Given the description of an element on the screen output the (x, y) to click on. 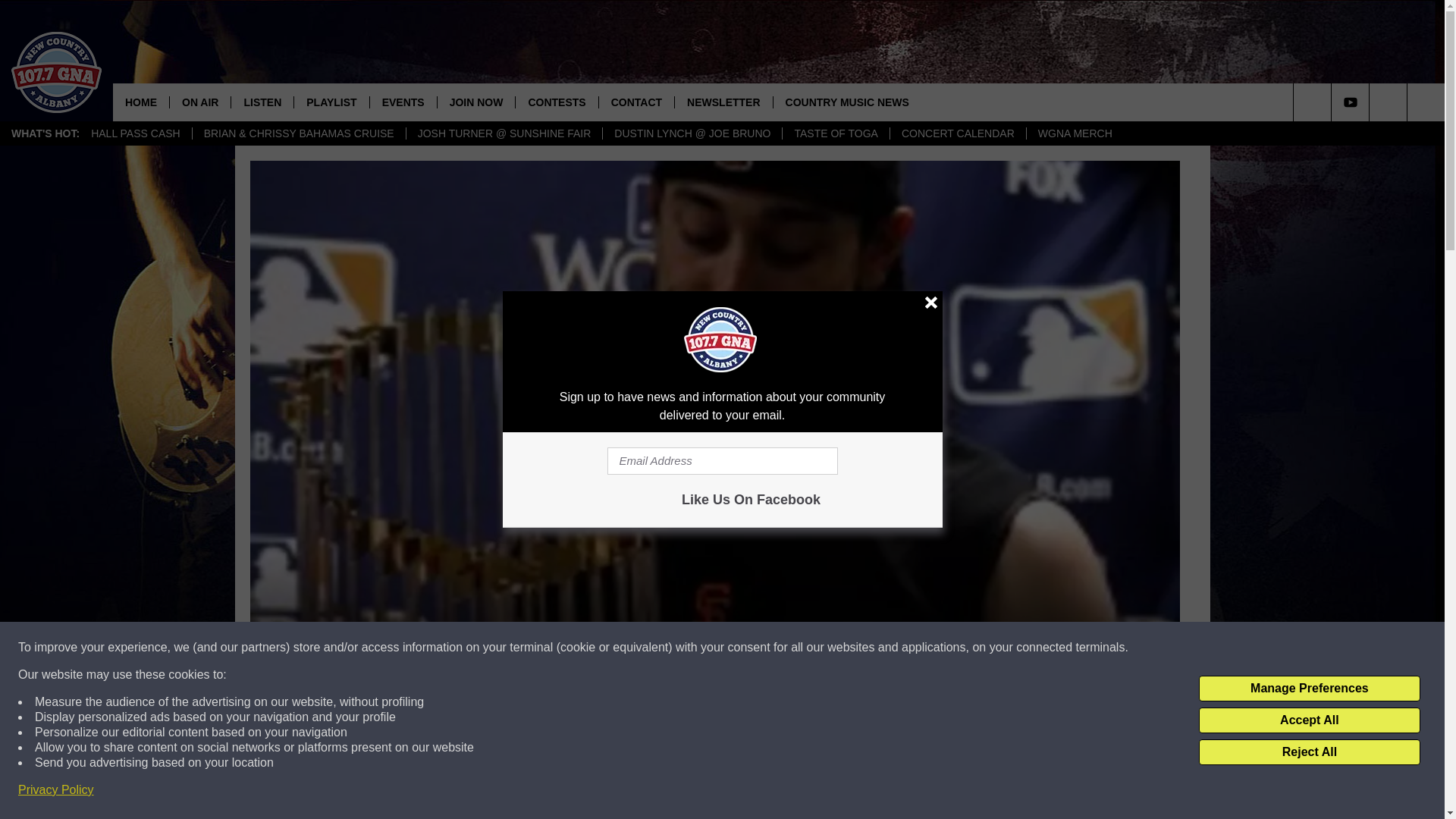
Reject All (1309, 751)
Share on Facebook (517, 791)
Privacy Policy (55, 789)
Accept All (1309, 720)
LISTEN (262, 102)
HOME (140, 102)
ON AIR (199, 102)
EVENTS (402, 102)
TASTE OF TOGA (834, 133)
WGNA MERCH (1075, 133)
Manage Preferences (1309, 688)
CONCERT CALENDAR (957, 133)
PLAYLIST (331, 102)
Share on Twitter (912, 791)
Email Address (722, 461)
